Given the description of an element on the screen output the (x, y) to click on. 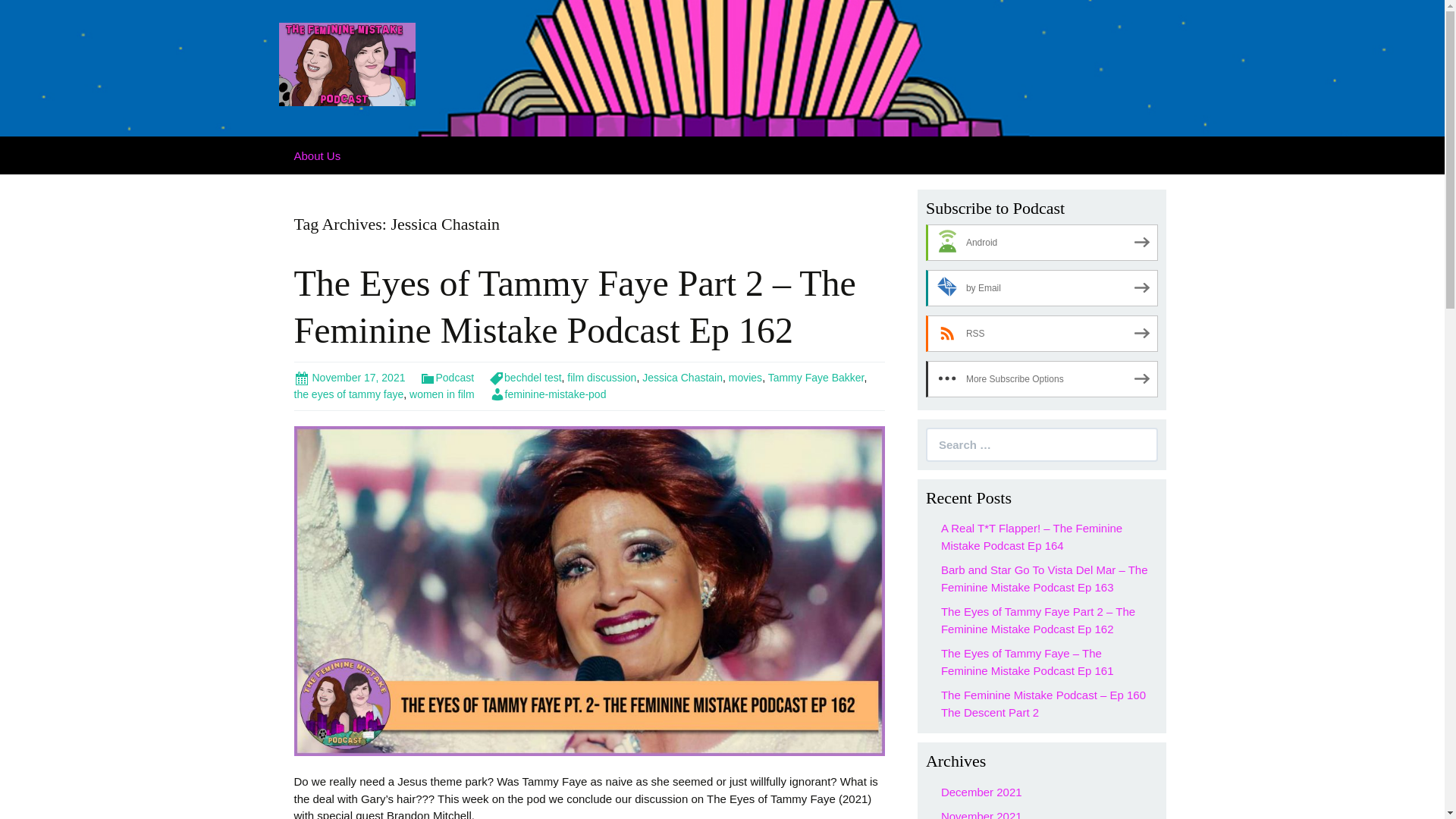
film discussion (601, 377)
Podcast (447, 377)
View all posts by feminine-mistake-pod (548, 394)
The Feminine Mistake Podcast (346, 62)
Jessica Chastain (682, 377)
bechdel test (525, 377)
women in film (441, 394)
Tammy Faye Bakker (816, 377)
